Given the description of an element on the screen output the (x, y) to click on. 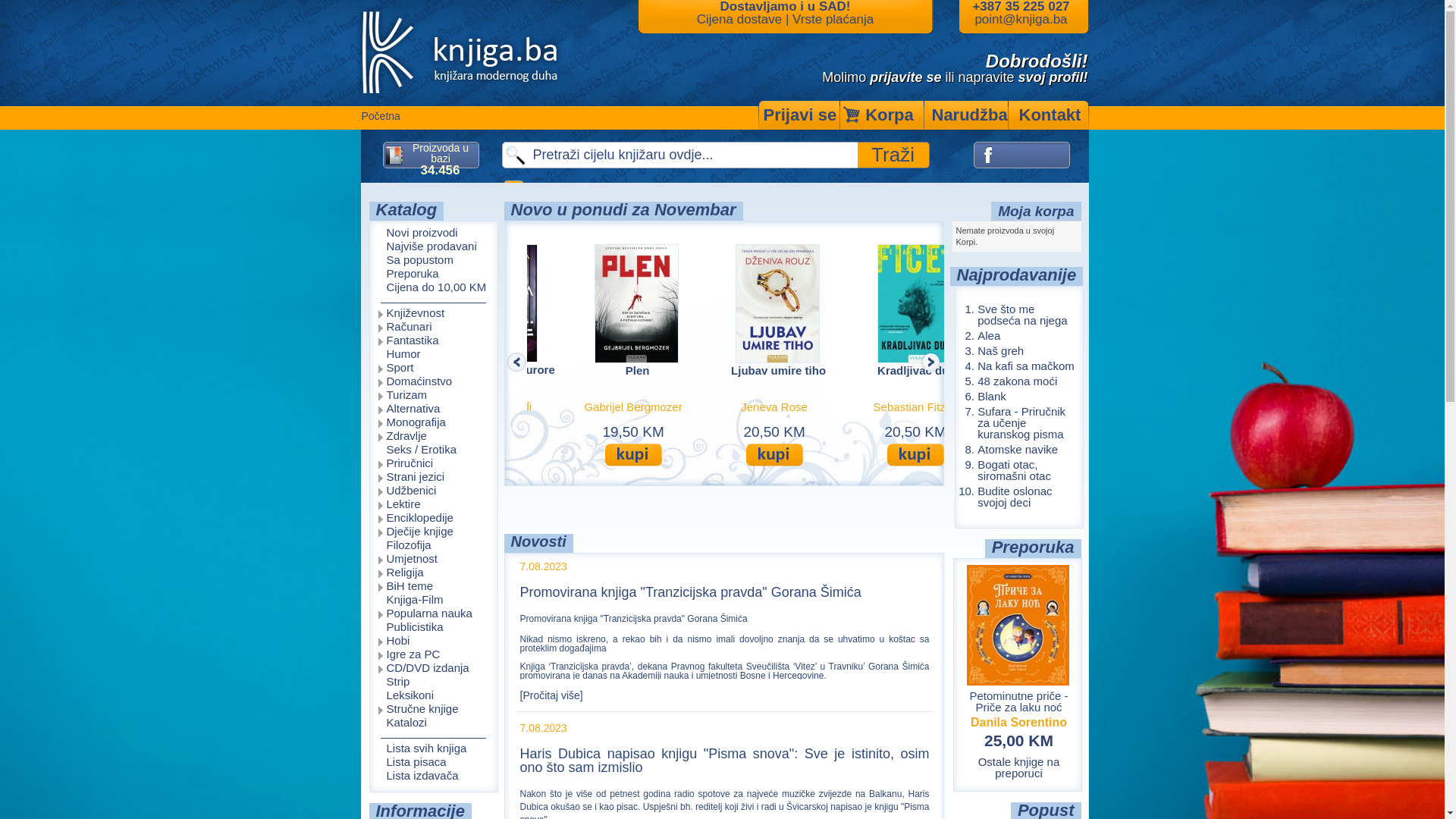
Seks / Erotika Element type: text (434, 450)
Popularna nauka Element type: text (434, 614)
Alternativa Element type: text (434, 409)
Leksikoni Element type: text (434, 695)
Ljubav umire tiho Element type: hover (878, 359)
Turizam Element type: text (434, 395)
Dodaj u korpu Element type: hover (605, 454)
Ostale knjige na preporuci Element type: text (1019, 767)
Sport Element type: text (434, 368)
Preporuka Element type: text (432, 274)
Budite oslonac svojoj deci Element type: text (1014, 496)
Blank Element type: text (991, 395)
Alea Element type: text (988, 335)
Plen Element type: text (879, 370)
Knjiga-Film Element type: text (434, 600)
34.456 Element type: text (439, 169)
Lista svih knjiga Element type: text (432, 749)
Cijena dostave Element type: text (738, 19)
Dodaj u korpu Element type: hover (876, 454)
Barbara Baraldi Element type: text (733, 405)
point@knjiga.ba Element type: text (1020, 19)
Dodaj u korpu Element type: hover (739, 454)
Katalozi Element type: text (434, 723)
Zdravlje Element type: text (434, 436)
svoj profil! Element type: text (1052, 76)
Atomske navike Element type: text (1017, 448)
Korpa Element type: text (881, 114)
Cijena do 10,00 KM Element type: text (432, 287)
Lista pisaca Element type: text (432, 762)
CD/DVD izdanja Element type: text (434, 668)
Novi proizvodi Element type: text (432, 233)
Monografija Element type: text (434, 422)
Strip Element type: text (434, 682)
Filozofija Element type: text (434, 545)
Umjetnost Element type: text (434, 559)
Napredna pretraga Element type: hover (513, 193)
Lektire Element type: text (434, 504)
Gabrijel Bergmozer Element type: text (874, 406)
Enciklopedije Element type: text (434, 518)
Mersedes Ron Element type: text (593, 406)
Hobi Element type: text (434, 641)
Igre za PC Element type: text (434, 655)
BiH teme Element type: text (434, 586)
Prijavi se Element type: text (796, 114)
Religija Element type: text (434, 573)
Humor Element type: text (434, 354)
prijavite se Element type: text (905, 76)
Danila Sorentino Element type: text (1018, 721)
Plen Element type: hover (744, 359)
Left direction Element type: hover (515, 361)
Right direction Element type: hover (929, 361)
Sa popustom Element type: text (432, 260)
Strani jezici Element type: text (434, 477)
Fantastika Element type: text (434, 341)
Publicistika Element type: text (434, 627)
Kontakt Element type: text (1050, 114)
